Given the description of an element on the screen output the (x, y) to click on. 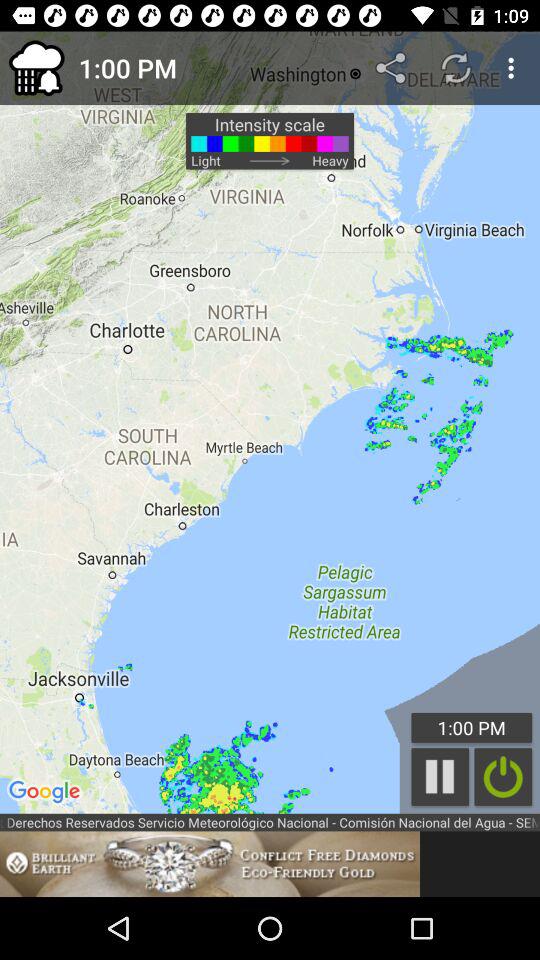
pause the animation (440, 776)
